Given the description of an element on the screen output the (x, y) to click on. 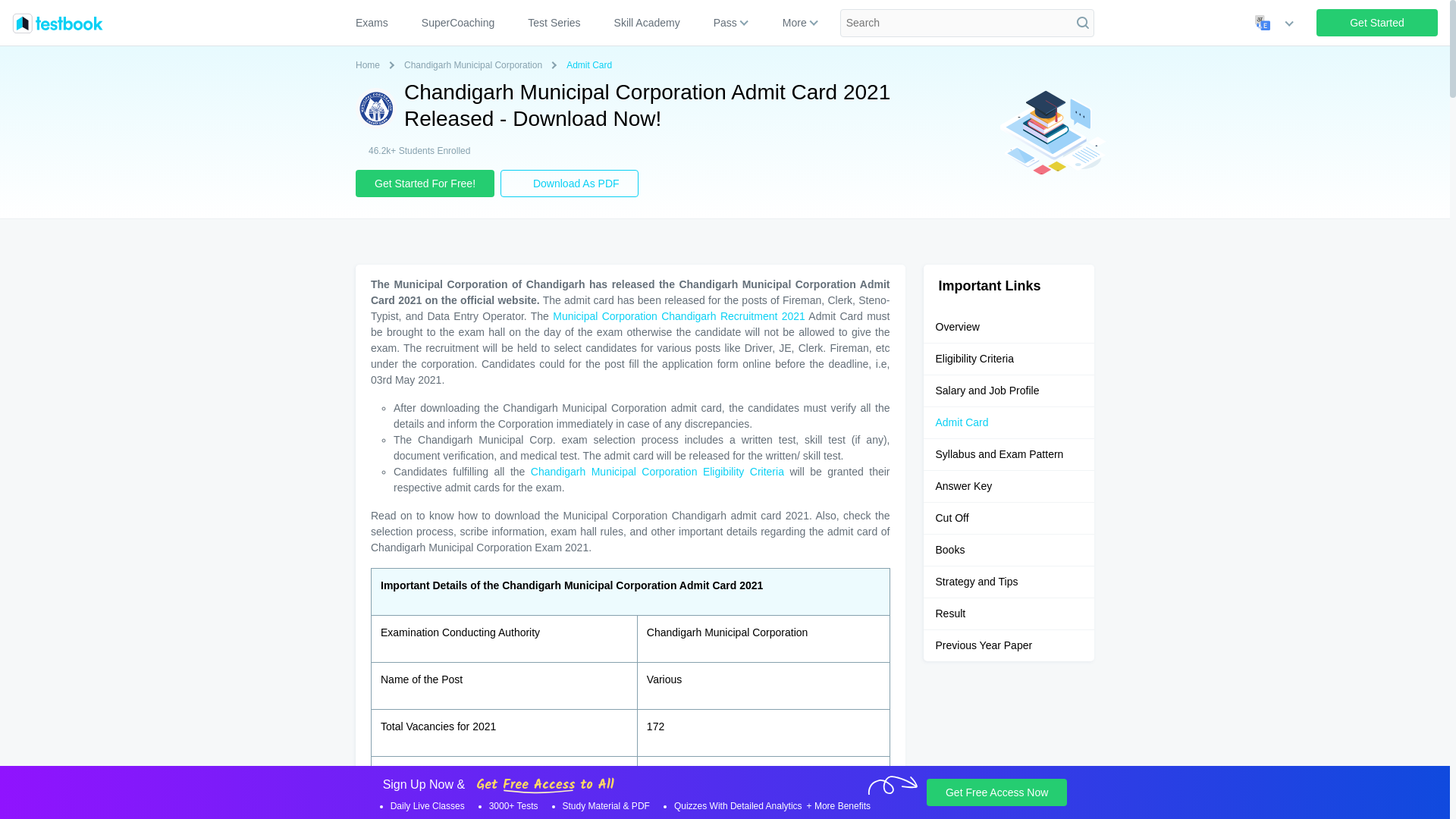
Download As PDF (569, 183)
Test Series (553, 22)
Chandigarh Municipal Corporation (476, 65)
Municipal Corporation Chandigarh Recruitment 2021 (679, 316)
Skill Academy (647, 22)
Pass (725, 22)
Exams (377, 22)
SuperCoaching (457, 22)
Get Started (1377, 22)
